Given the description of an element on the screen output the (x, y) to click on. 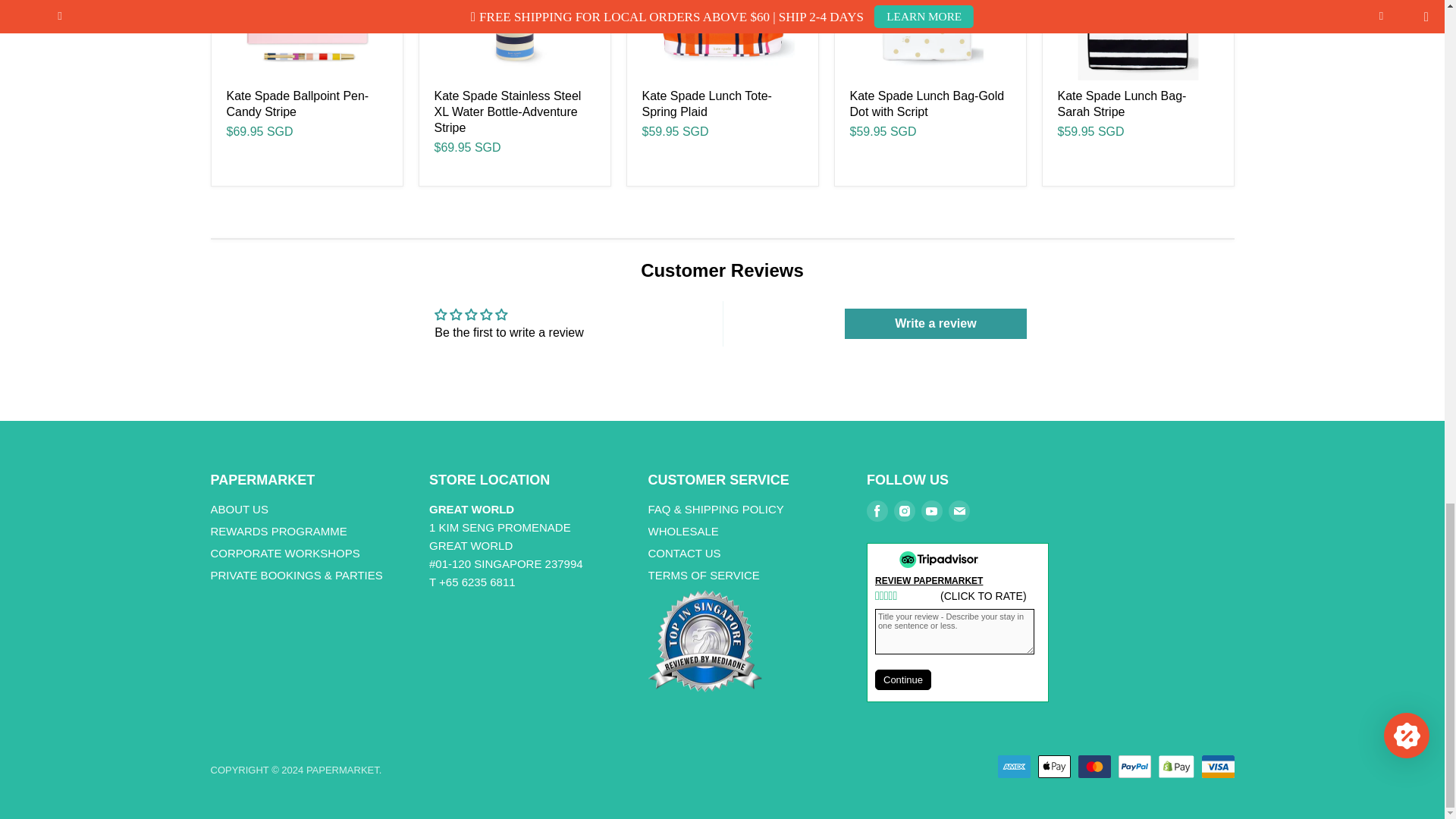
E-mail (958, 510)
Facebook (877, 510)
Instagram (904, 510)
Youtube (931, 510)
Continue (903, 679)
